Given the description of an element on the screen output the (x, y) to click on. 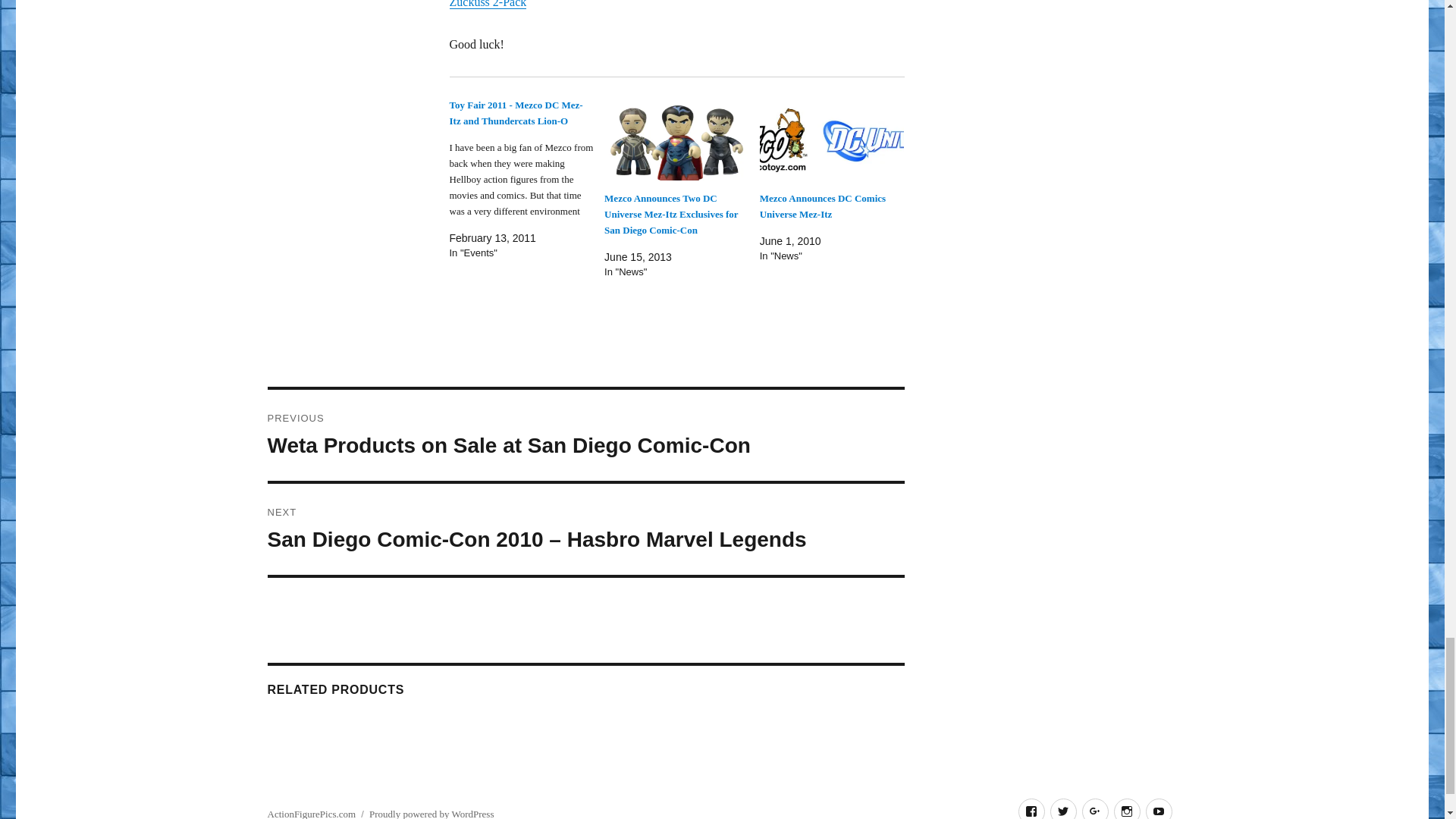
Mezco Announces DC Comics Universe Mez-Itz (832, 138)
Toy Fair 2011 - Mezco DC Mez-Itz and Thundercats Lion-O (515, 112)
Mezco Announces DC Comics Universe Mez-Itz (822, 206)
Toy Fair 2011 - Mezco DC Mez-Itz and Thundercats Lion-O (515, 112)
Toy Fair 2011 - Mezco DC Mez-Itz and Thundercats Lion-O (526, 179)
